Given the description of an element on the screen output the (x, y) to click on. 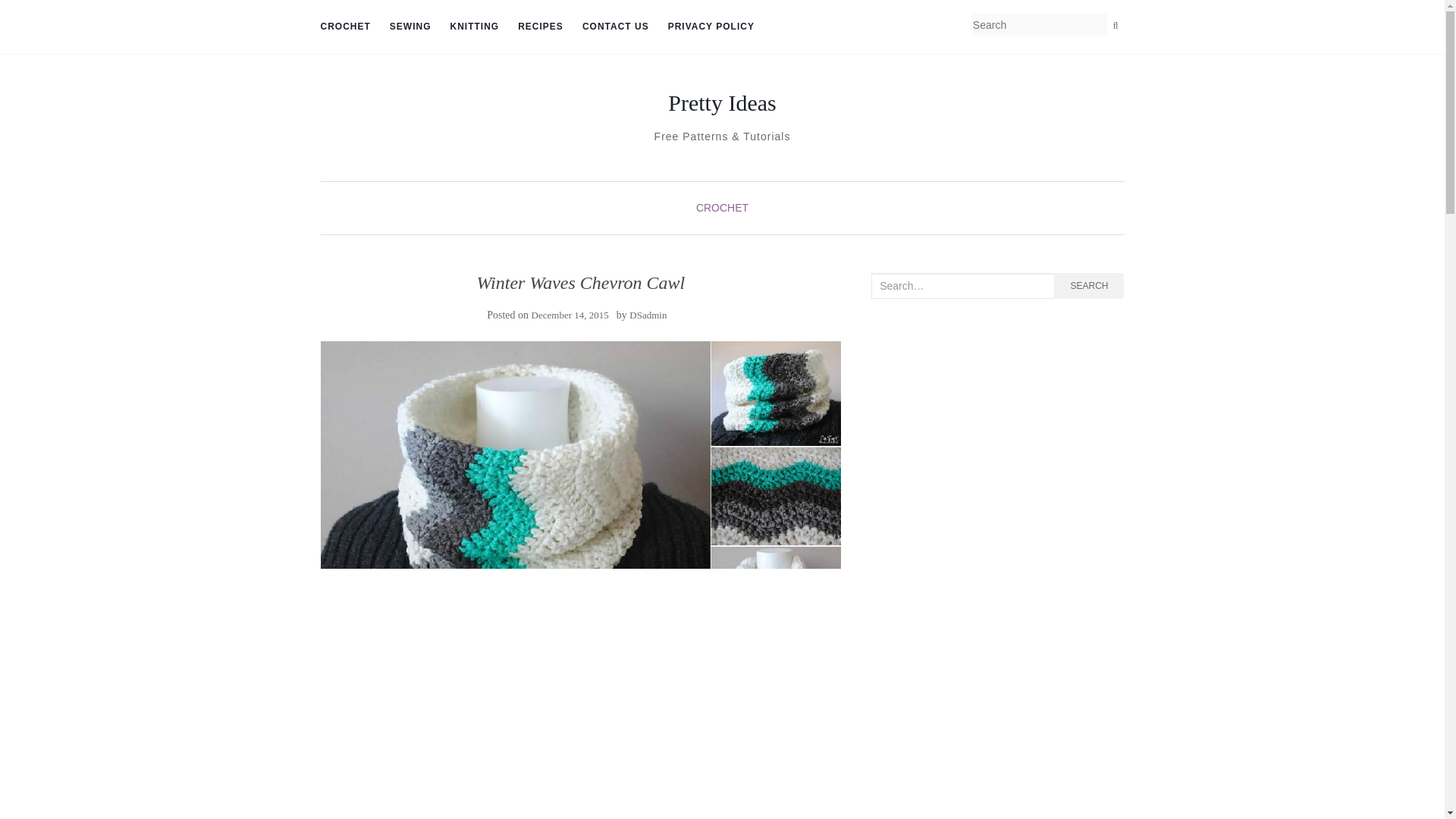
Privacy Policy (711, 27)
Pretty Ideas (722, 102)
December 14, 2015 (569, 315)
KNITTING (474, 27)
Contact Us (615, 27)
Crochet (344, 27)
Search for: (962, 285)
CONTACT US (615, 27)
CROCHET (344, 27)
PRIVACY POLICY (711, 27)
Knitting (474, 27)
CROCHET (721, 207)
DSadmin (647, 315)
Pretty Ideas (722, 102)
